Given the description of an element on the screen output the (x, y) to click on. 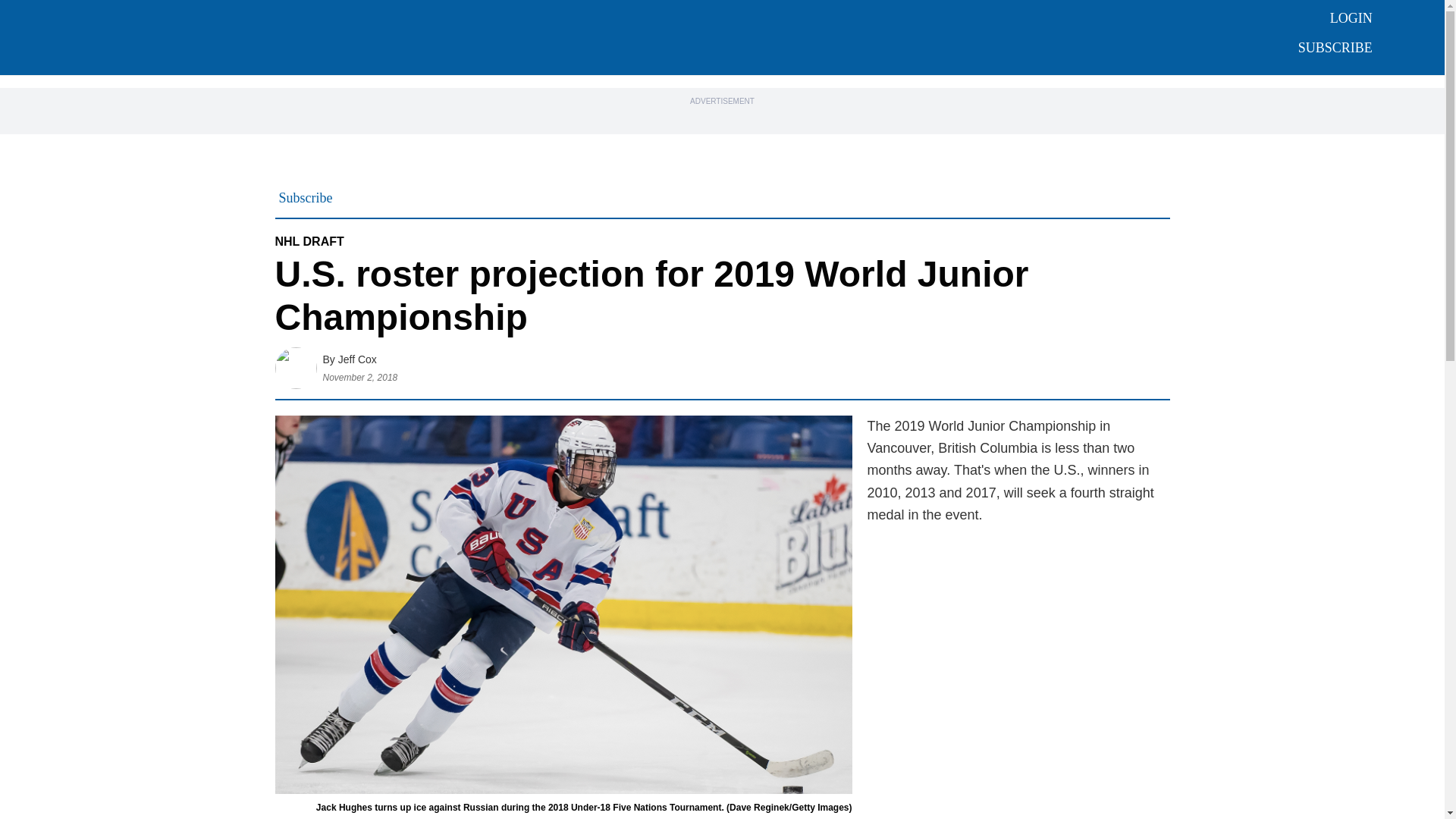
Jeff Cox (357, 358)
LOGIN (1351, 17)
Subscribe (306, 197)
NHL DRAFT (309, 241)
New York Hockey Journal (676, 37)
SUBSCRIBE (1335, 47)
